Given the description of an element on the screen output the (x, y) to click on. 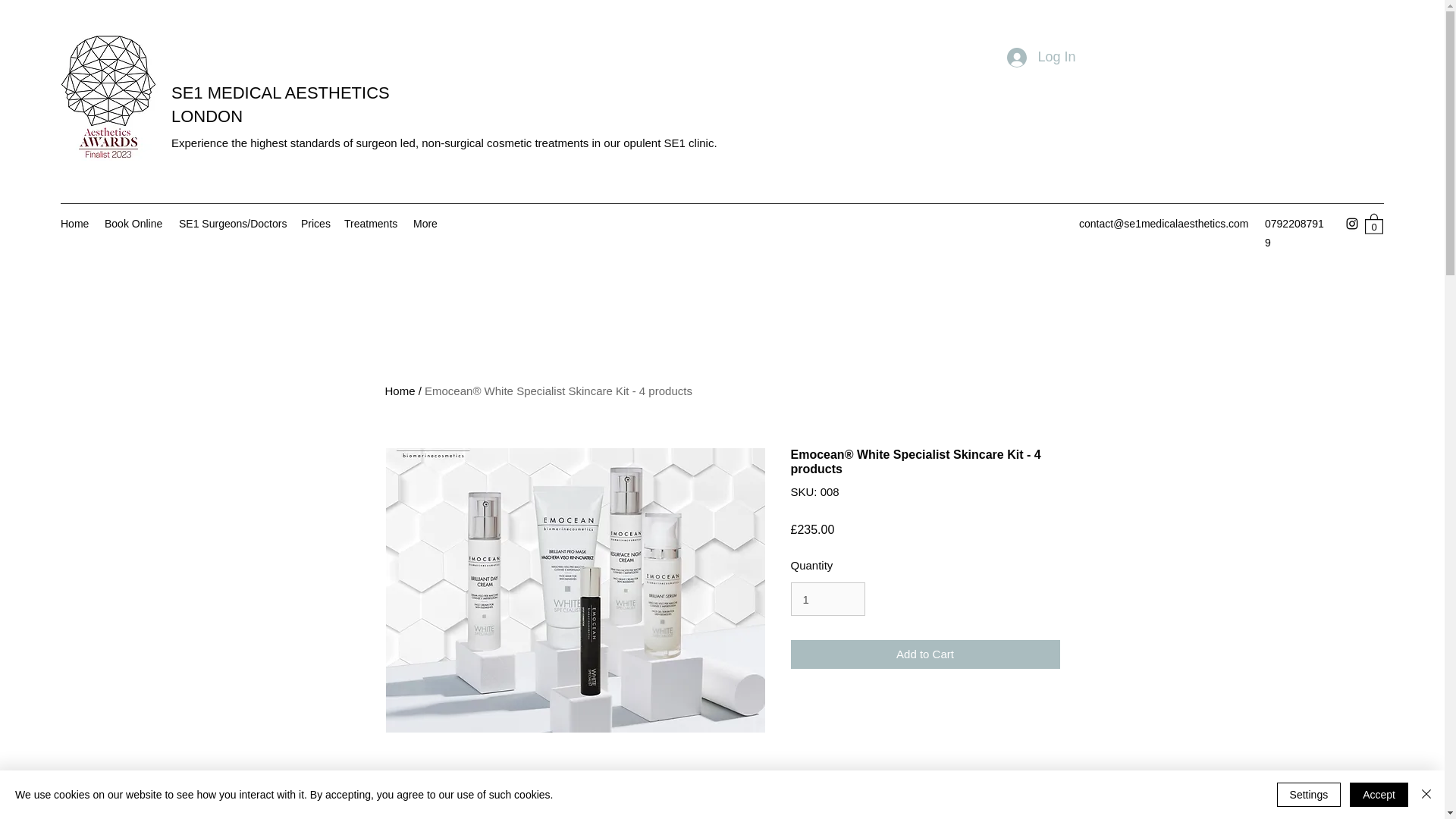
Accept (1378, 794)
Book Online (134, 223)
Home (74, 223)
1 (827, 598)
Prices (315, 223)
Treatments (371, 223)
SE1 Medical Aesthetics London (108, 97)
Log In (1040, 57)
Settings (1308, 794)
Home (399, 390)
